Given the description of an element on the screen output the (x, y) to click on. 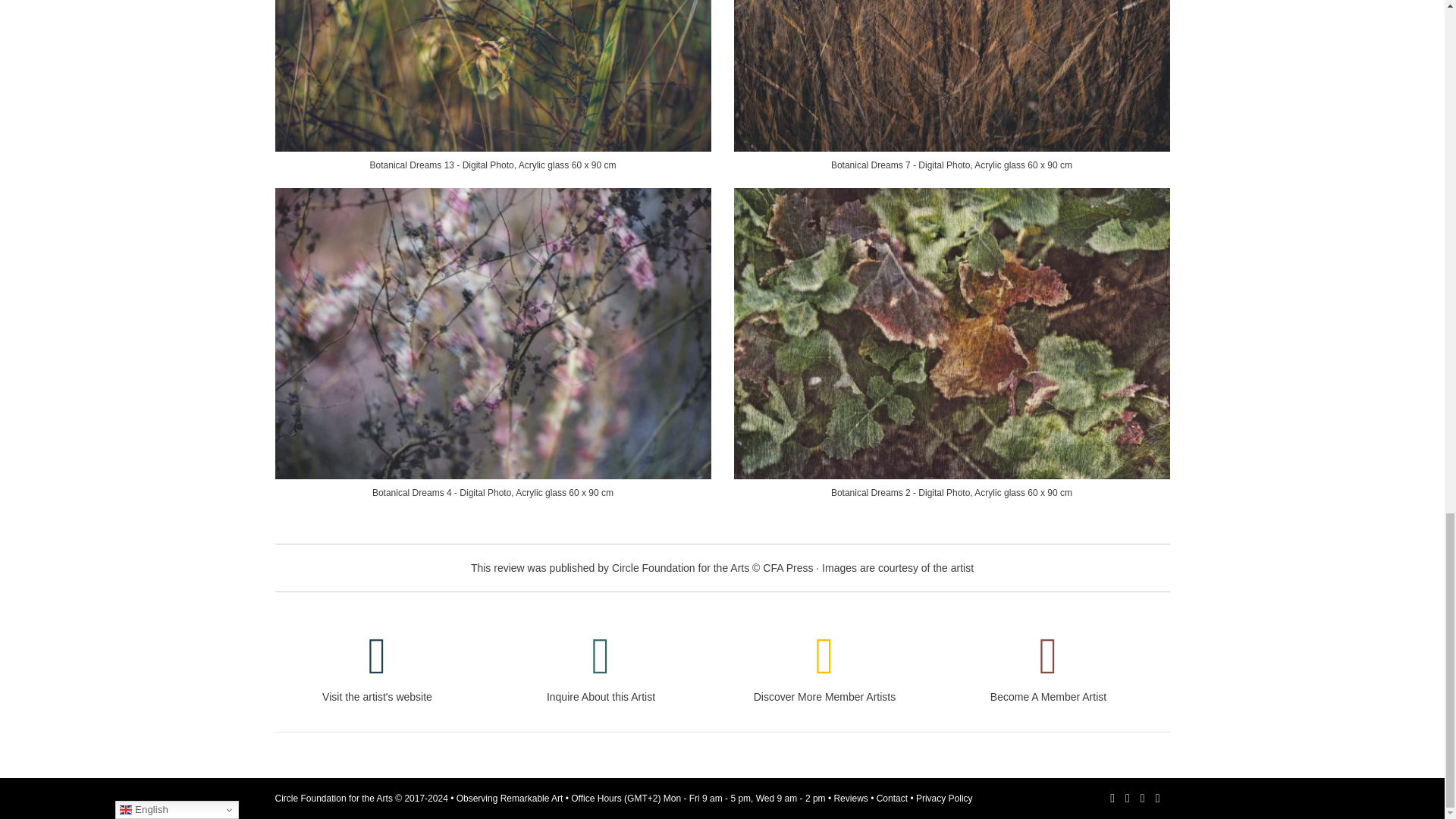
Contact (893, 798)
Reviews (851, 798)
Privacy Policy (943, 798)
